Given the description of an element on the screen output the (x, y) to click on. 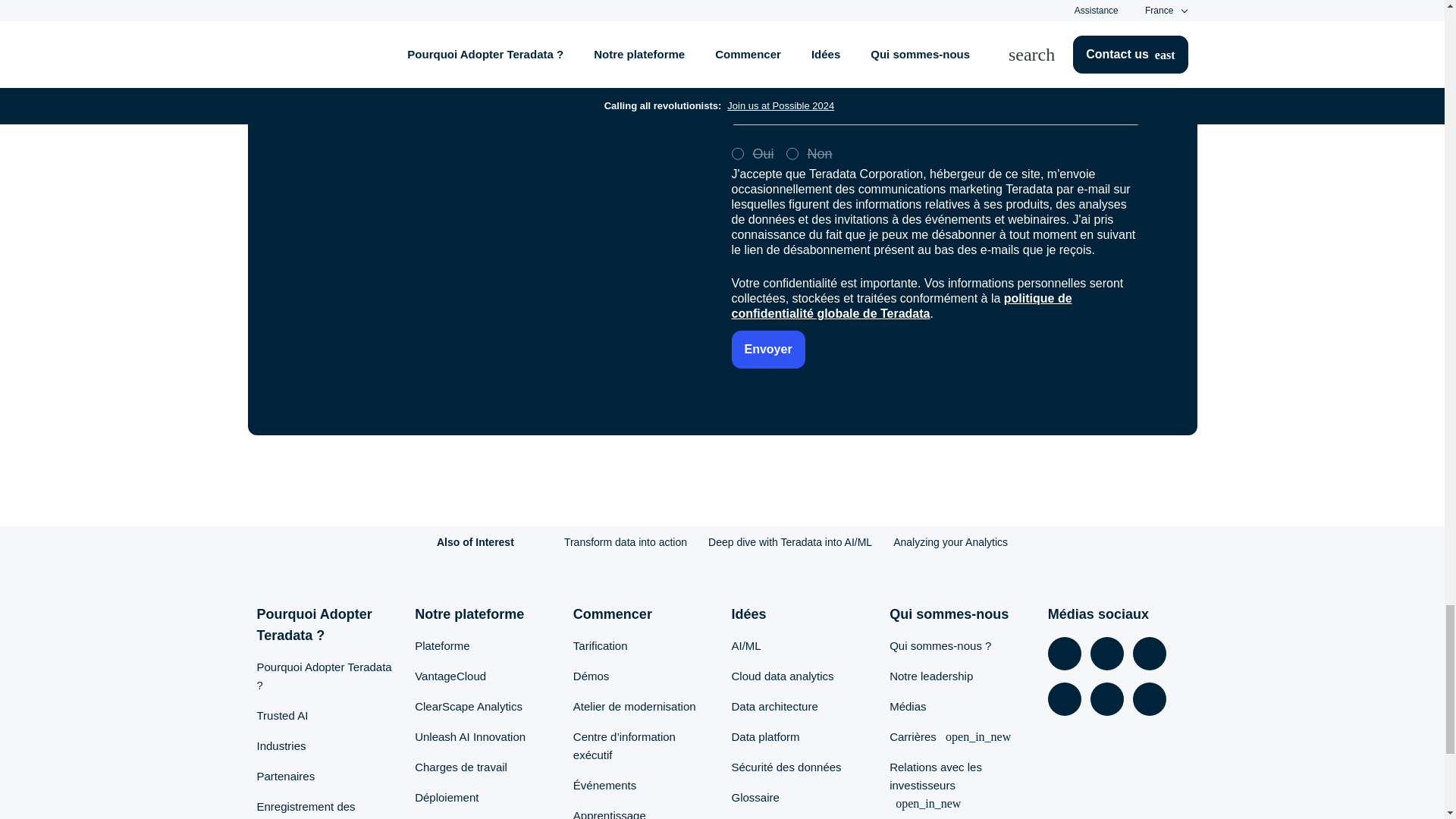
Analyzing your Analytics (950, 541)
Partenaires (285, 775)
Transform data into action (625, 541)
Trusted AI (281, 715)
Industries (280, 745)
Envoyer (767, 349)
No (791, 153)
Yes (736, 153)
Pourquoi Adopter Teradata ? (323, 675)
